Given the description of an element on the screen output the (x, y) to click on. 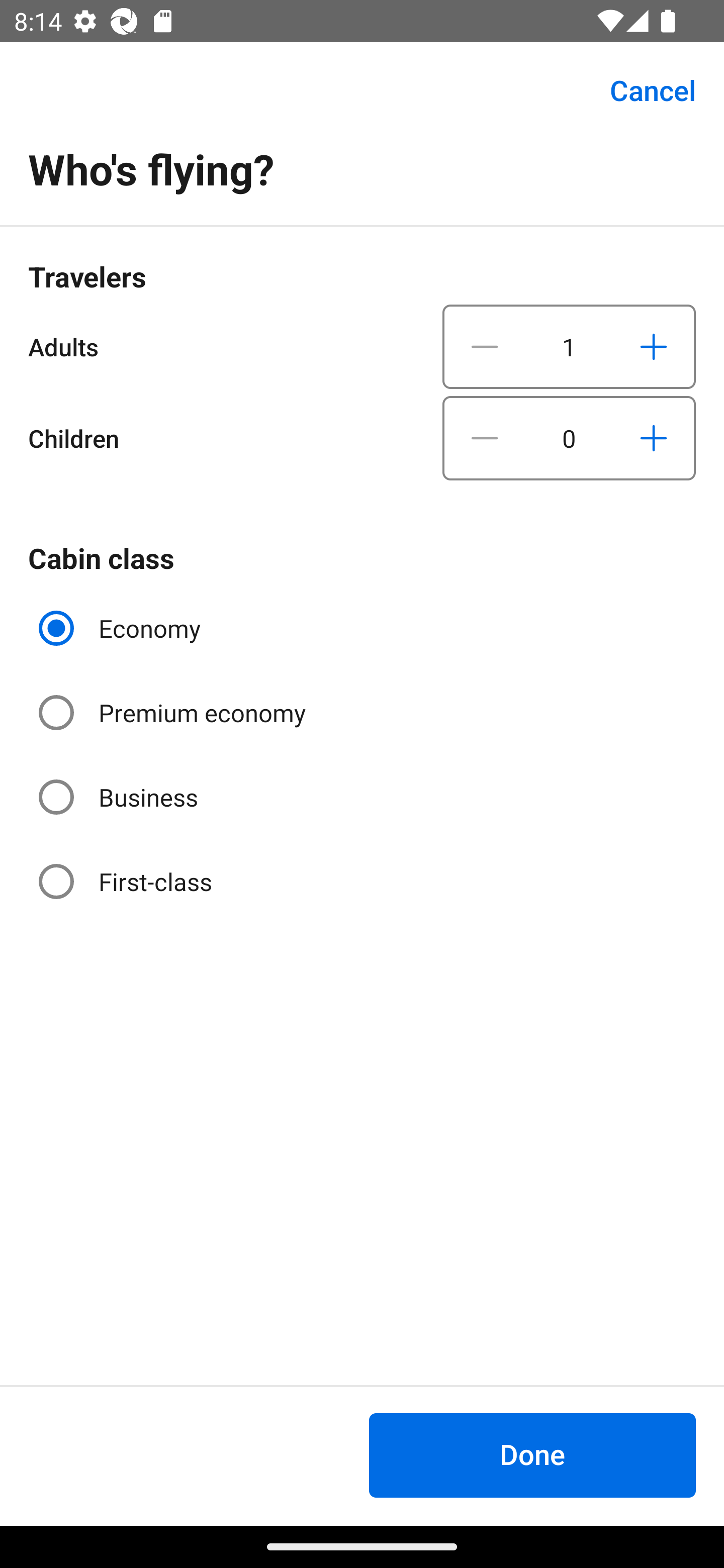
Cancel (641, 90)
Decrease (484, 346)
Increase (653, 346)
Decrease (484, 437)
Increase (653, 437)
Economy (121, 628)
Premium economy (174, 712)
Business (120, 796)
First-class (126, 880)
Done (532, 1454)
